Given the description of an element on the screen output the (x, y) to click on. 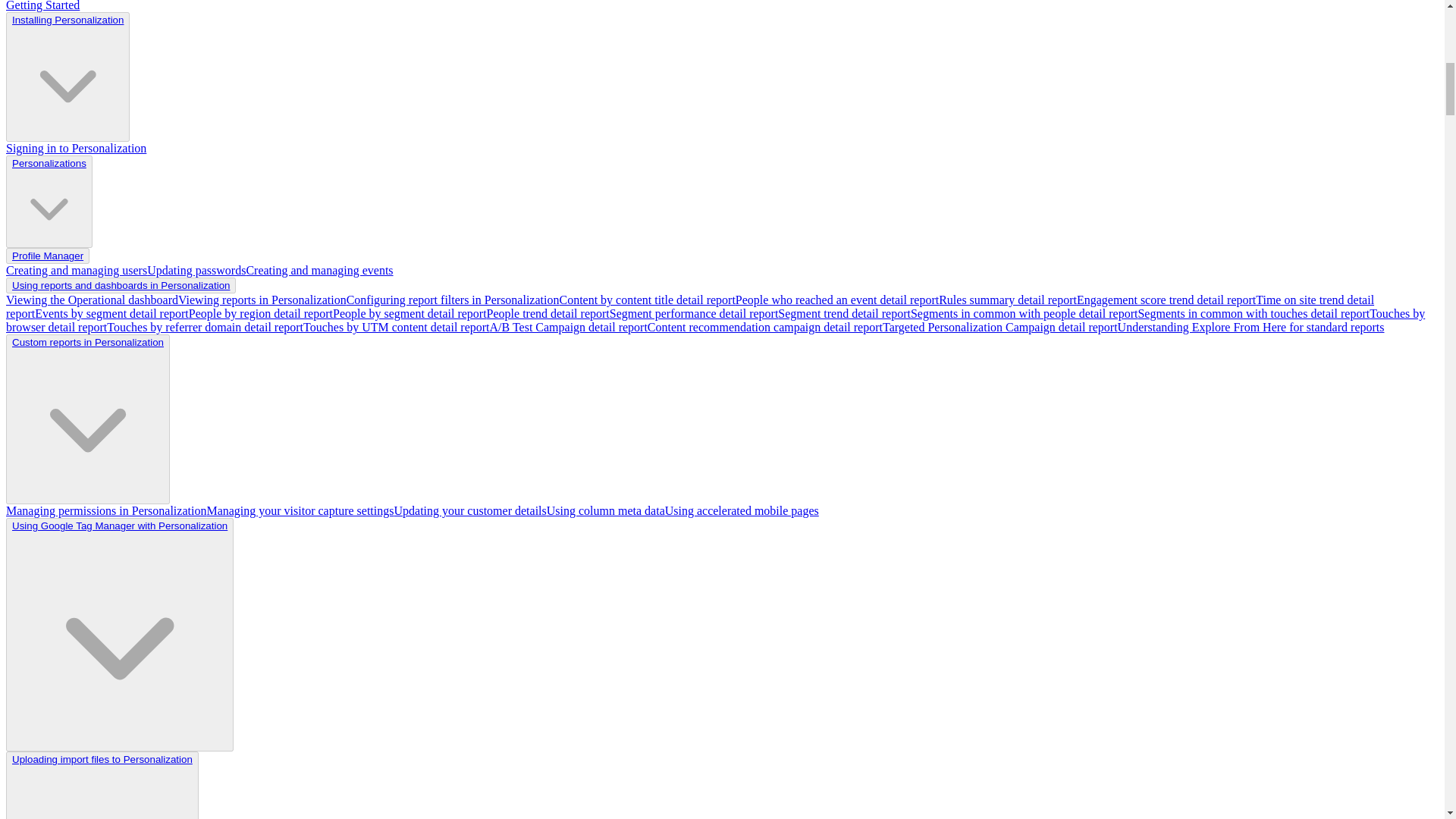
Creating and managing users (76, 269)
Personalizations (49, 201)
Using reports and dashboards in Personalization (120, 285)
Installing Personalization (67, 19)
Configuring report filters in Personalization (452, 299)
Time on site trend detail report (689, 306)
Creating and managing events (319, 269)
People trend detail report (548, 313)
People who reached an event detail report (837, 299)
Segment trend detail report (844, 313)
